Given the description of an element on the screen output the (x, y) to click on. 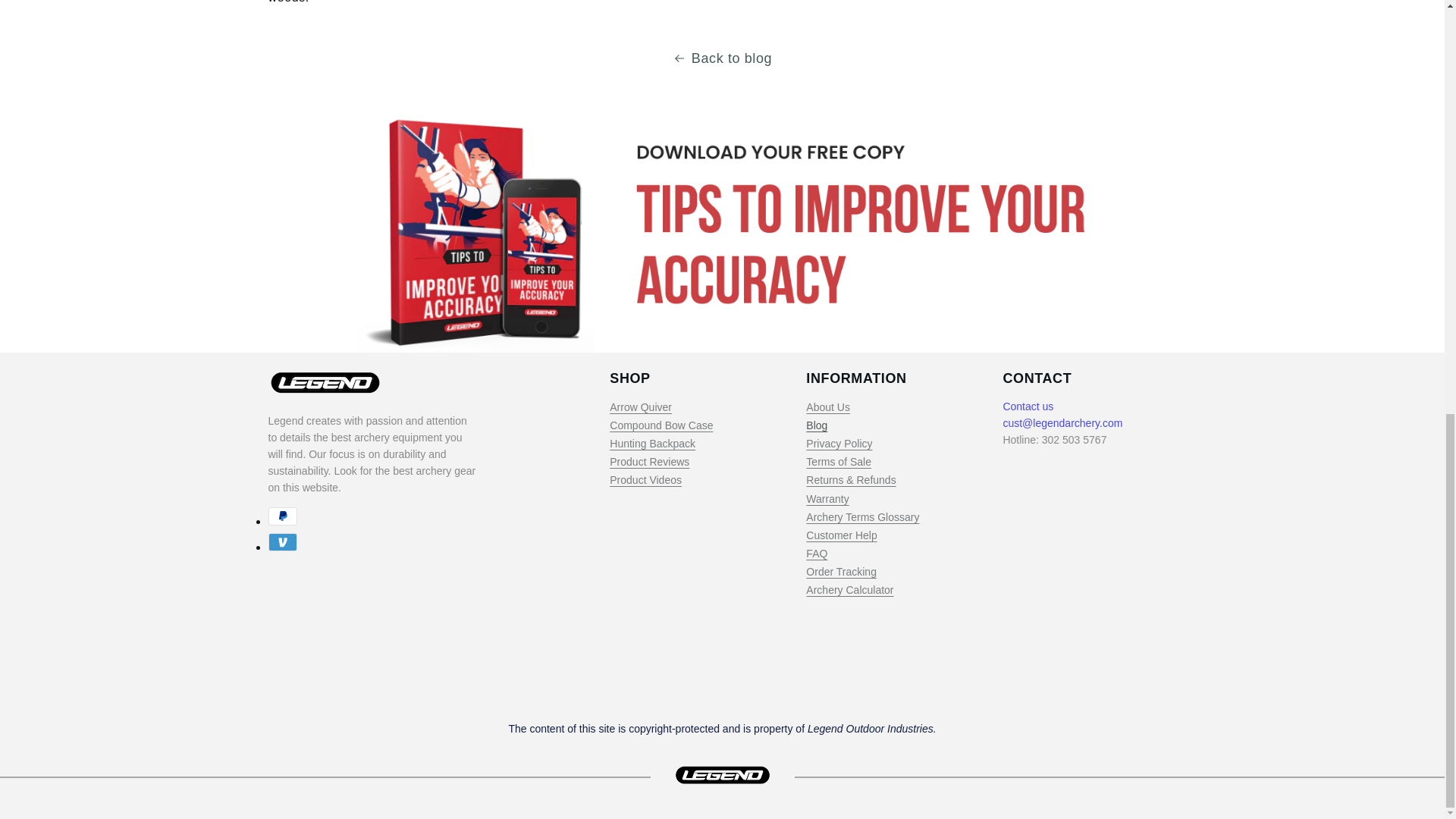
PayPal (282, 515)
Contact Us (1027, 406)
Venmo (282, 542)
